Given the description of an element on the screen output the (x, y) to click on. 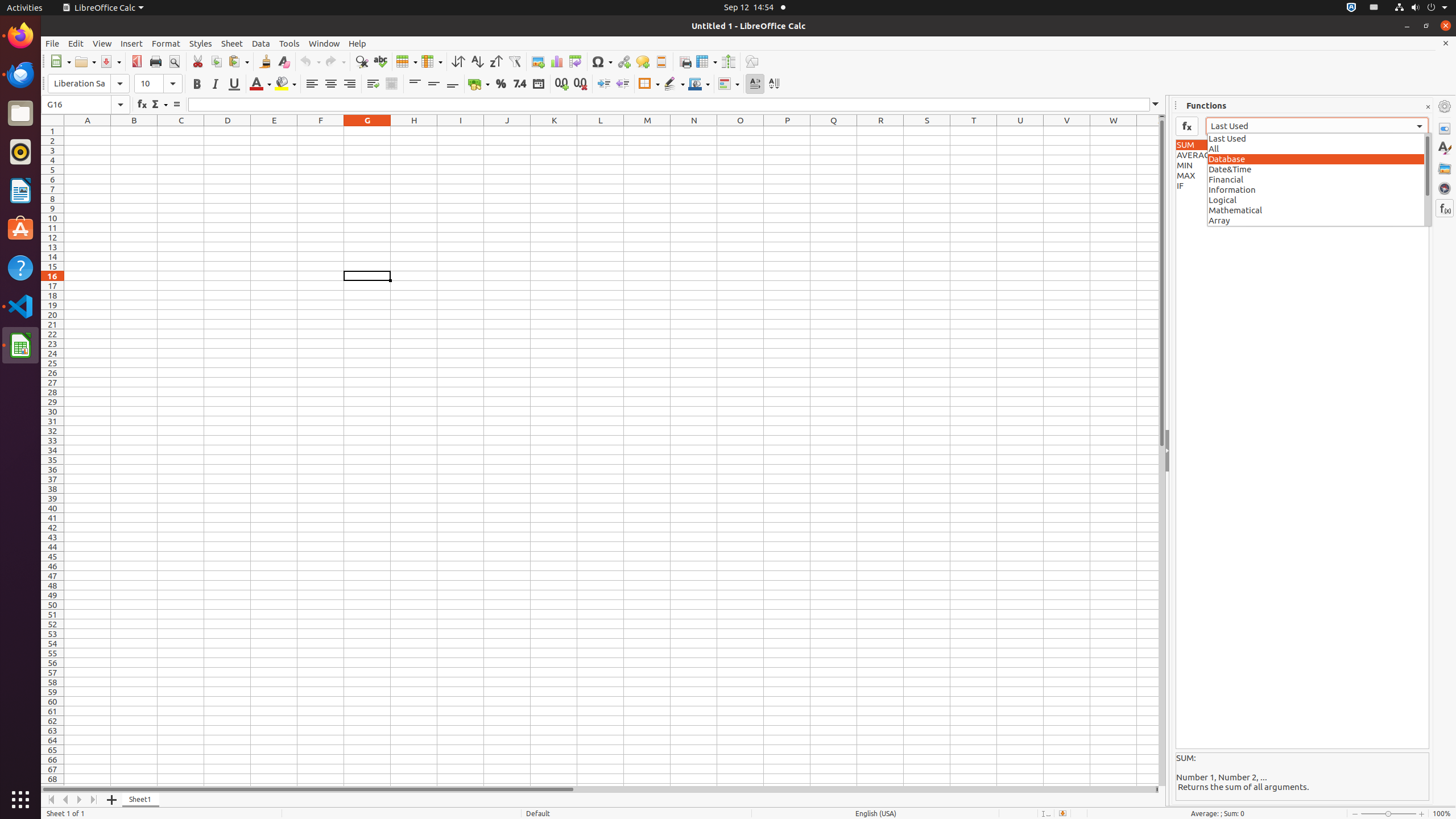
Increase Element type: push-button (603, 83)
Italic Element type: toggle-button (214, 83)
Sheet Element type: menu (231, 43)
Move Right Element type: push-button (79, 799)
E1 Element type: table-cell (273, 130)
